Given the description of an element on the screen output the (x, y) to click on. 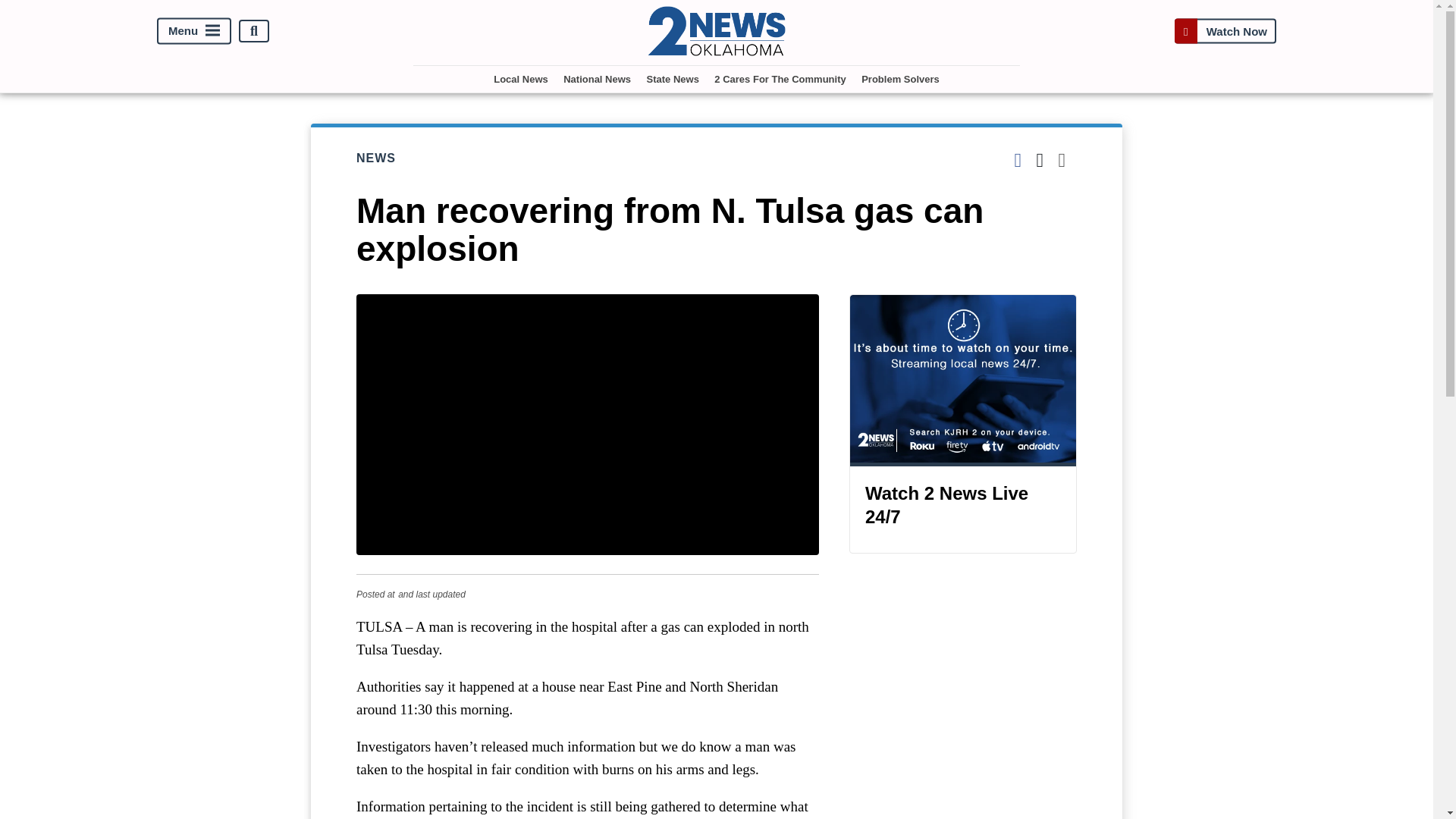
Watch Now (1224, 31)
Menu (194, 31)
